Given the description of an element on the screen output the (x, y) to click on. 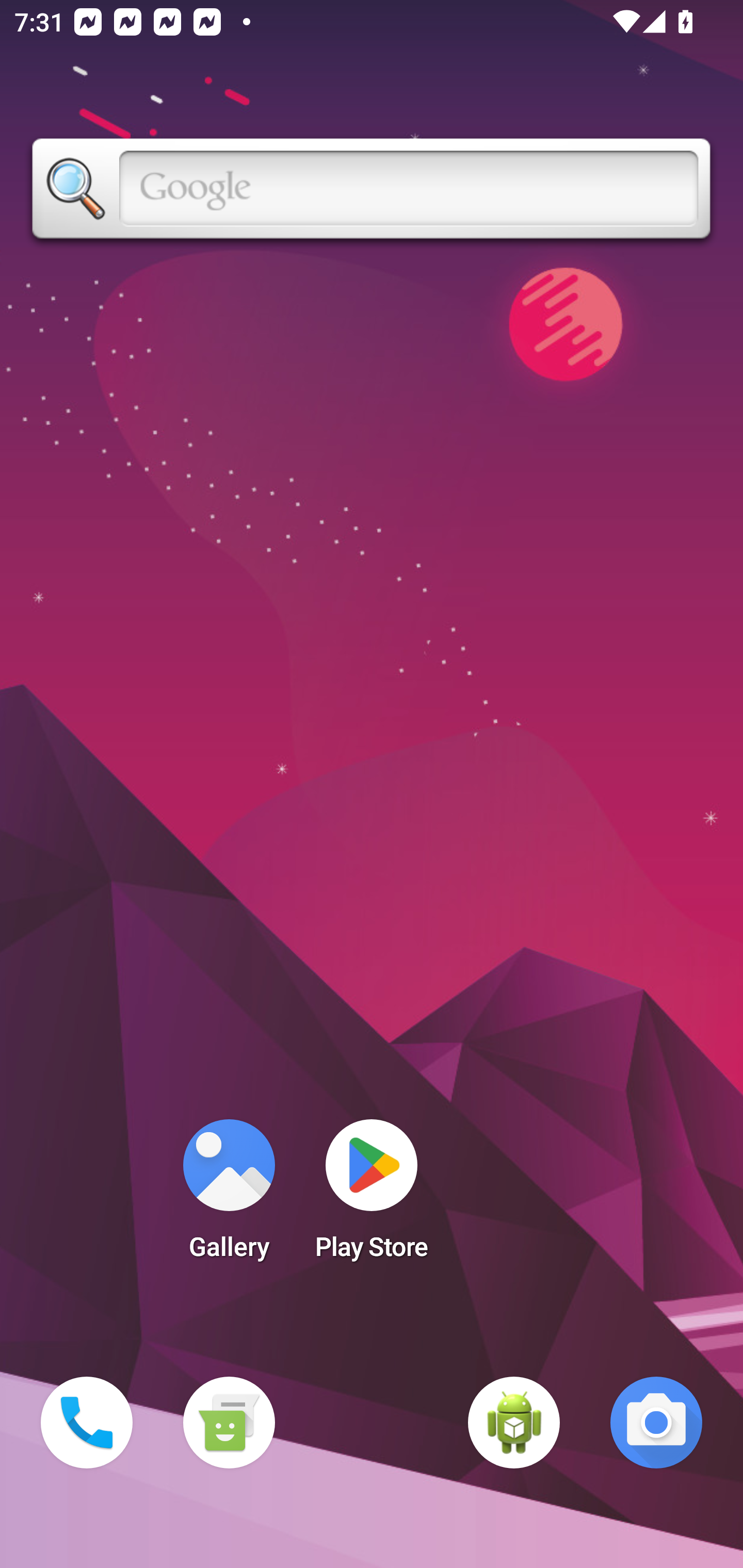
Gallery (228, 1195)
Play Store (371, 1195)
Phone (86, 1422)
Messaging (228, 1422)
WebView Browser Tester (513, 1422)
Camera (656, 1422)
